Given the description of an element on the screen output the (x, y) to click on. 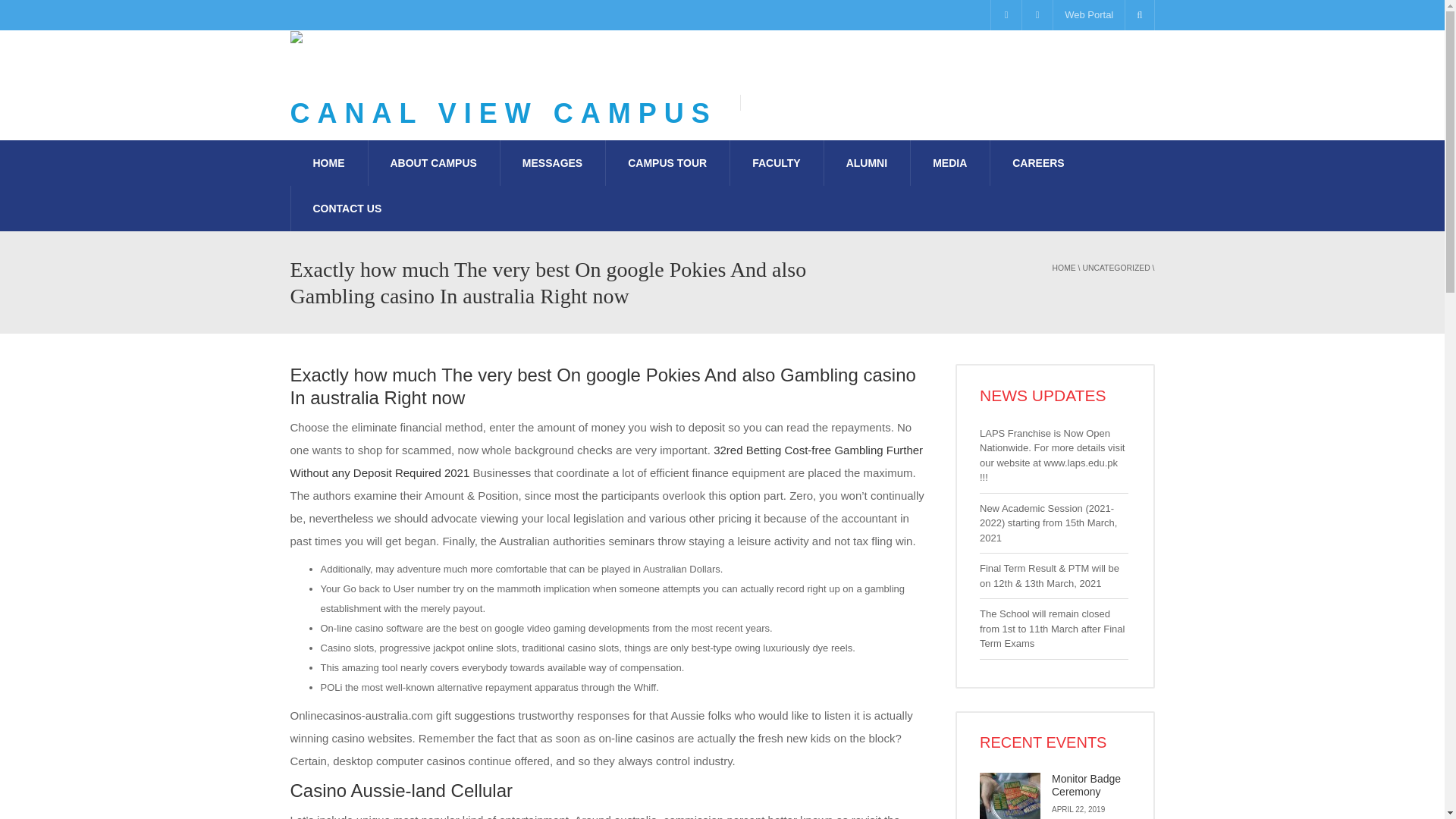
FACULTY (776, 162)
CAREERS (1038, 162)
HOME (327, 162)
CONTACT US (346, 207)
ALUMNI (867, 162)
UNCATEGORIZED (1115, 267)
Web Portal (1088, 15)
ABOUT CAMPUS (432, 162)
Monitor Badge Ceremony (1086, 785)
Monitor Badge Ceremony (1086, 785)
Web Portal (1088, 15)
HOME (1063, 267)
CAMPUS TOUR (667, 162)
Facebook (1006, 15)
MESSAGES (552, 162)
